Given the description of an element on the screen output the (x, y) to click on. 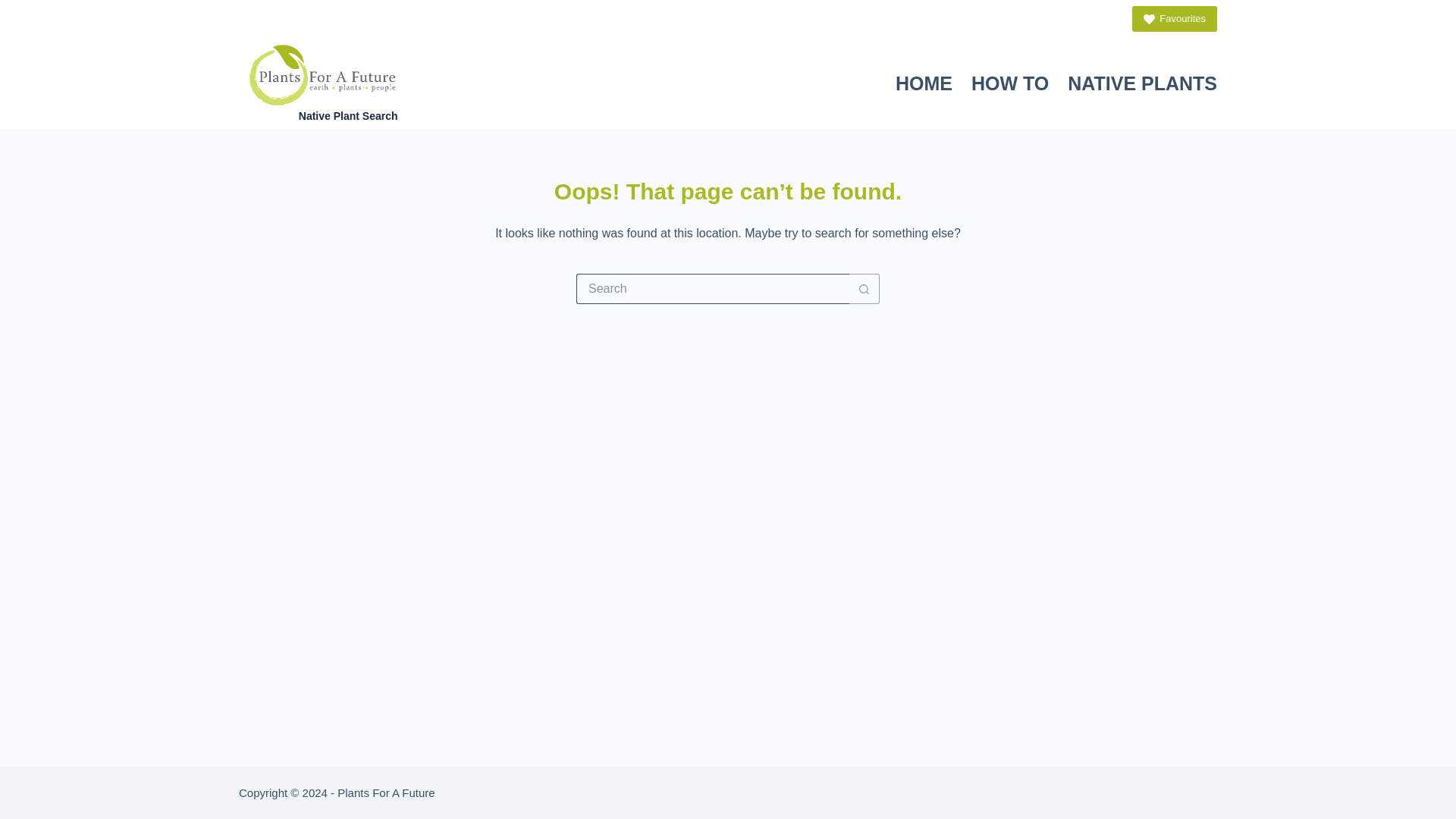
Search for... (712, 288)
NATIVE PLANTS (1137, 82)
HOME (922, 82)
Native Plant Search (347, 115)
Skip to content (15, 7)
HOW TO (1009, 82)
Favourites (1174, 18)
